Given the description of an element on the screen output the (x, y) to click on. 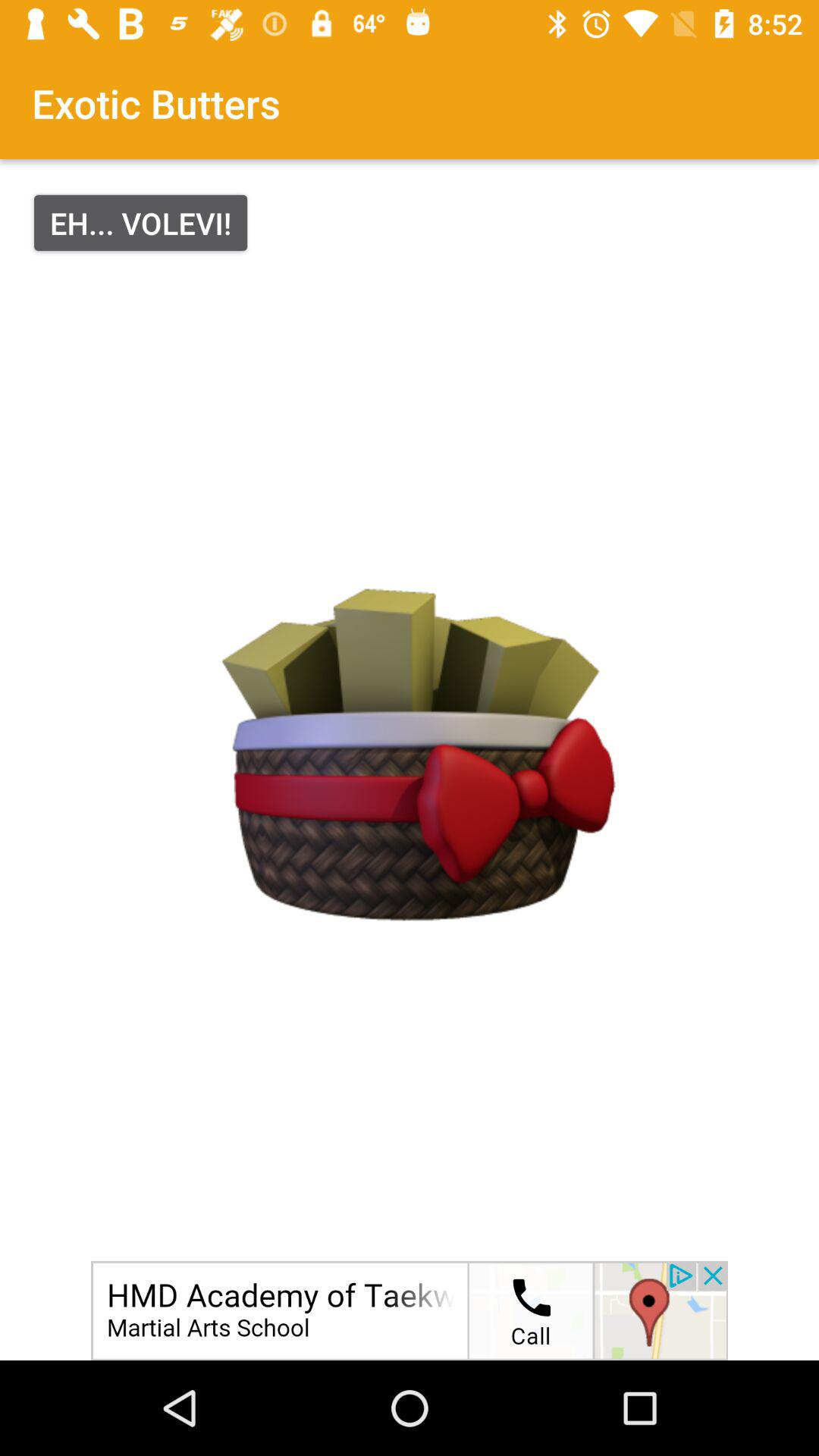
access this service (409, 1310)
